Given the description of an element on the screen output the (x, y) to click on. 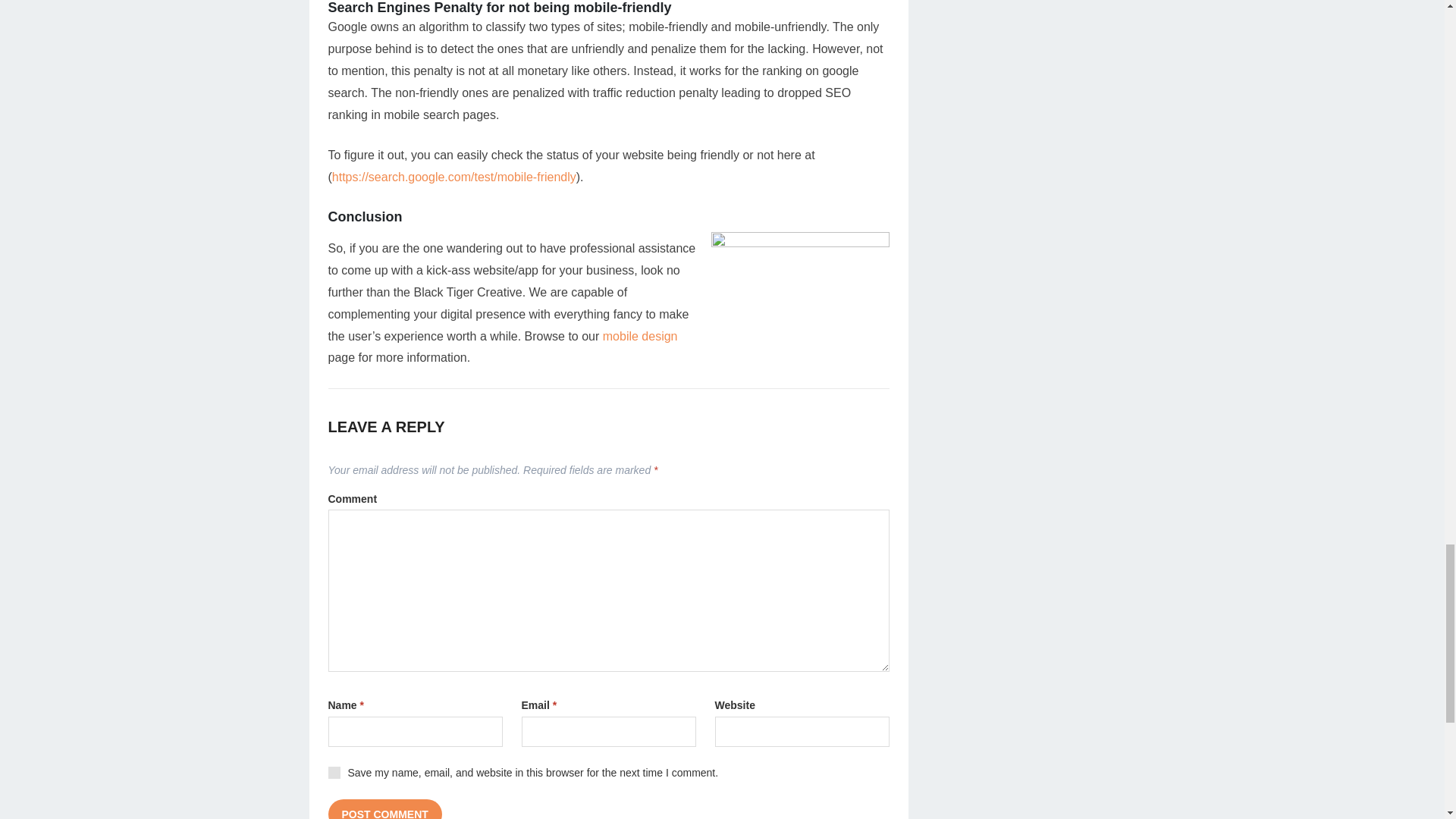
Post Comment (384, 809)
Post Comment (384, 809)
mobile design (640, 336)
